Given the description of an element on the screen output the (x, y) to click on. 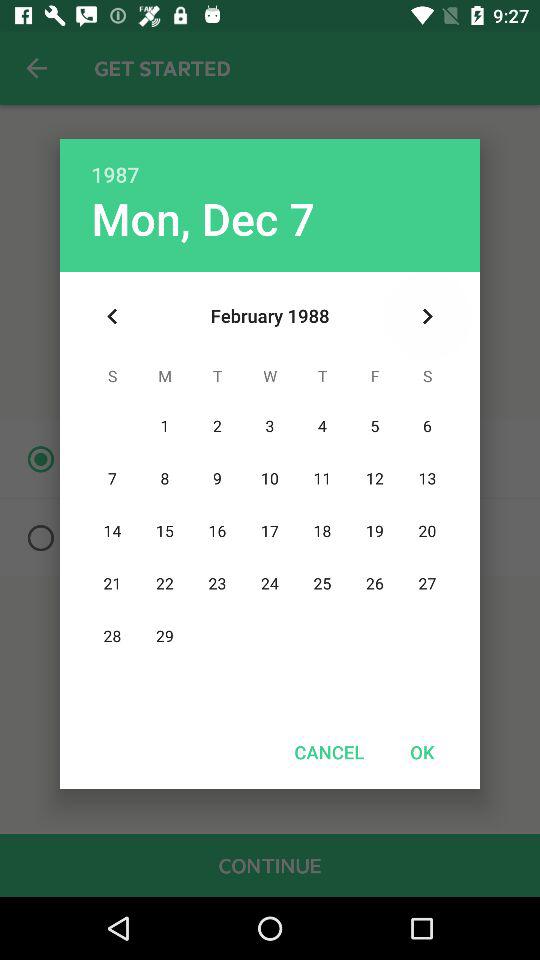
tap icon below mon, dec 7 (112, 316)
